Given the description of an element on the screen output the (x, y) to click on. 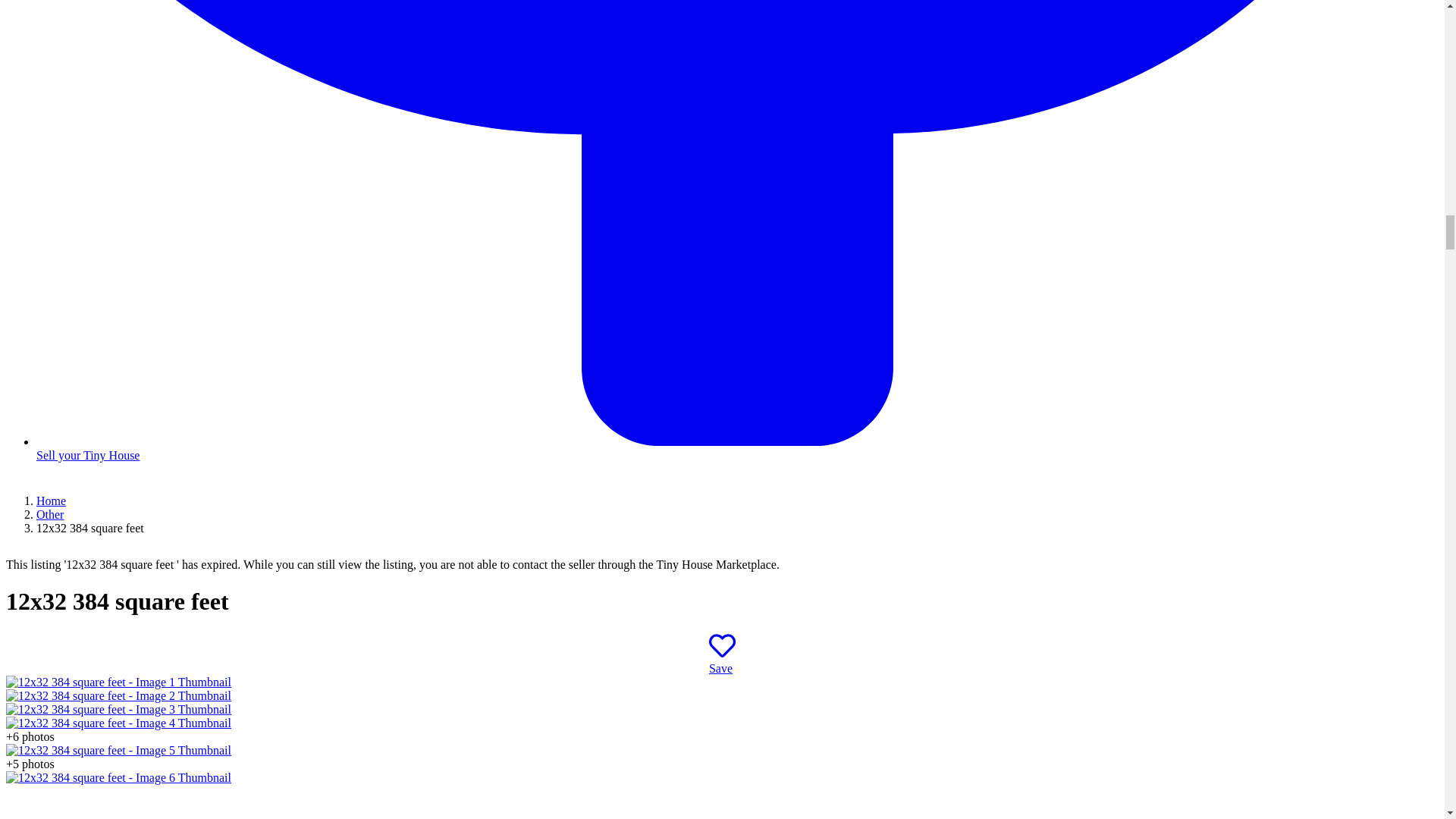
12x32  384 square feet  (118, 681)
12x32  384 square feet  (118, 722)
Other (50, 513)
12x32  384 square feet  (118, 695)
Save (722, 661)
Home (50, 500)
12x32  384 square feet  (118, 777)
12x32  384 square feet  (118, 749)
12x32  384 square feet  (118, 708)
